Given the description of an element on the screen output the (x, y) to click on. 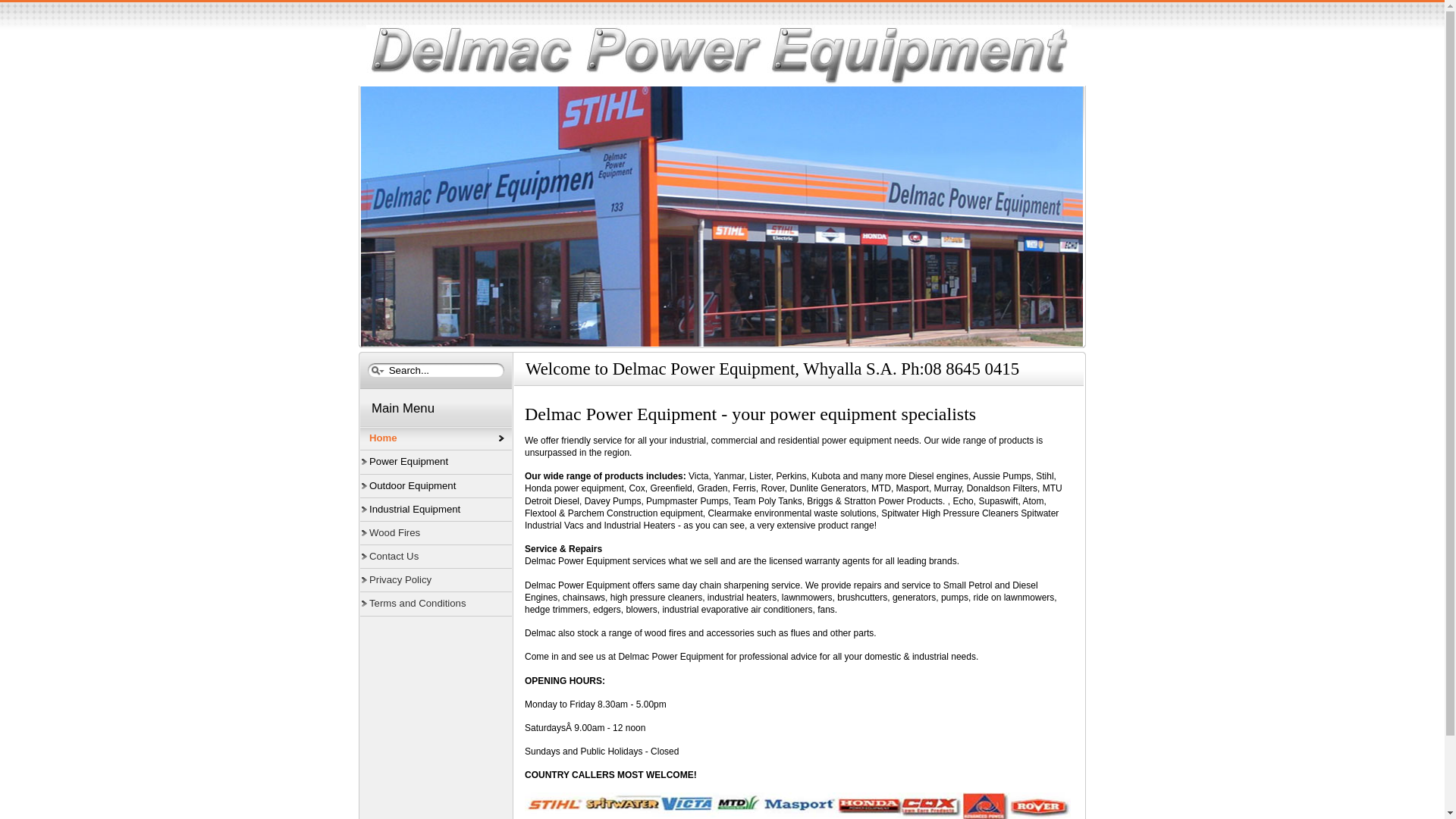
Wood Fires Element type: text (435, 532)
Contact Us Element type: text (435, 556)
Home Element type: text (435, 437)
Privacy Policy Element type: text (435, 579)
Terms and Conditions Element type: text (435, 603)
